Given the description of an element on the screen output the (x, y) to click on. 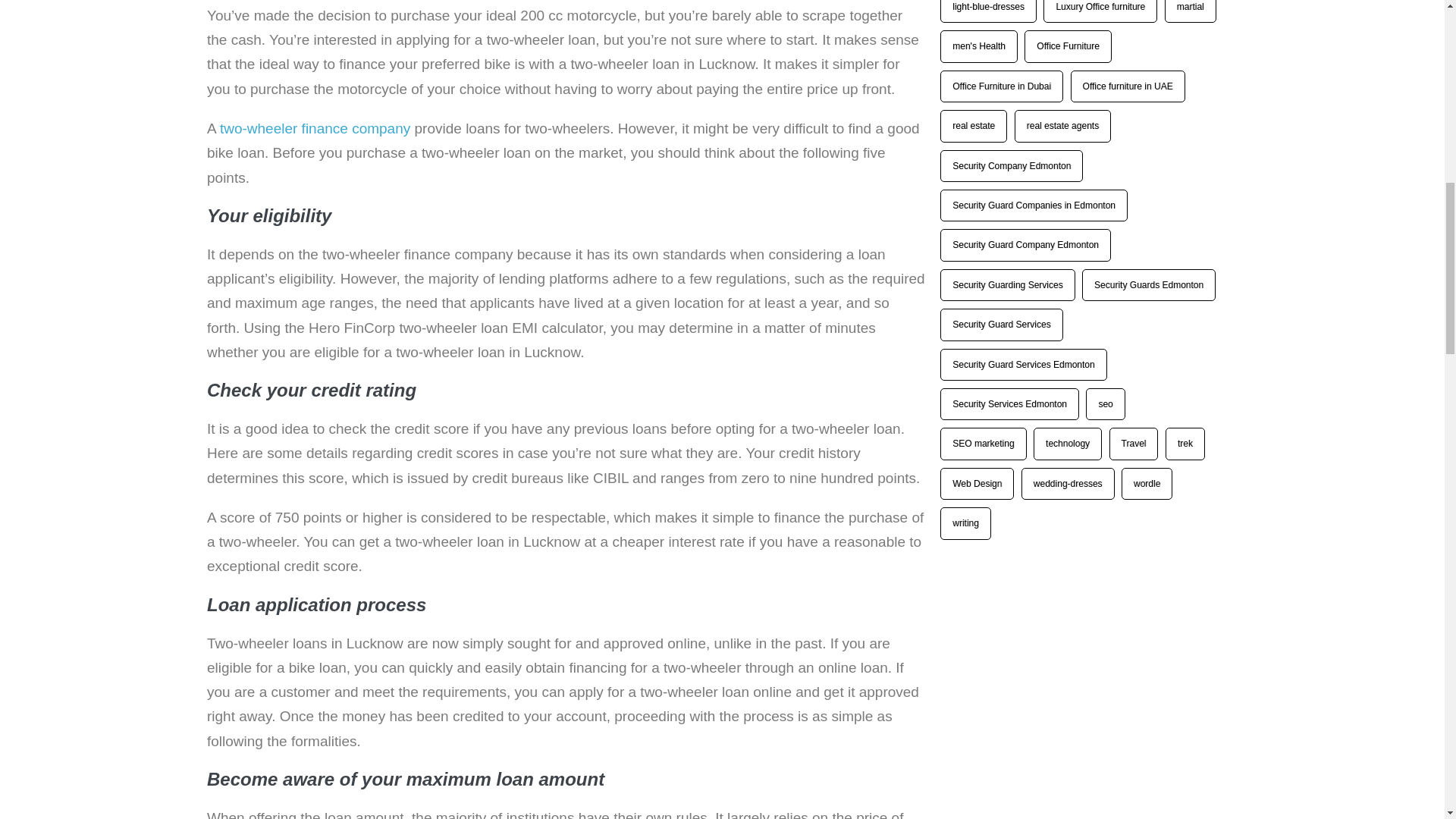
two-wheeler finance company (314, 128)
